Given the description of an element on the screen output the (x, y) to click on. 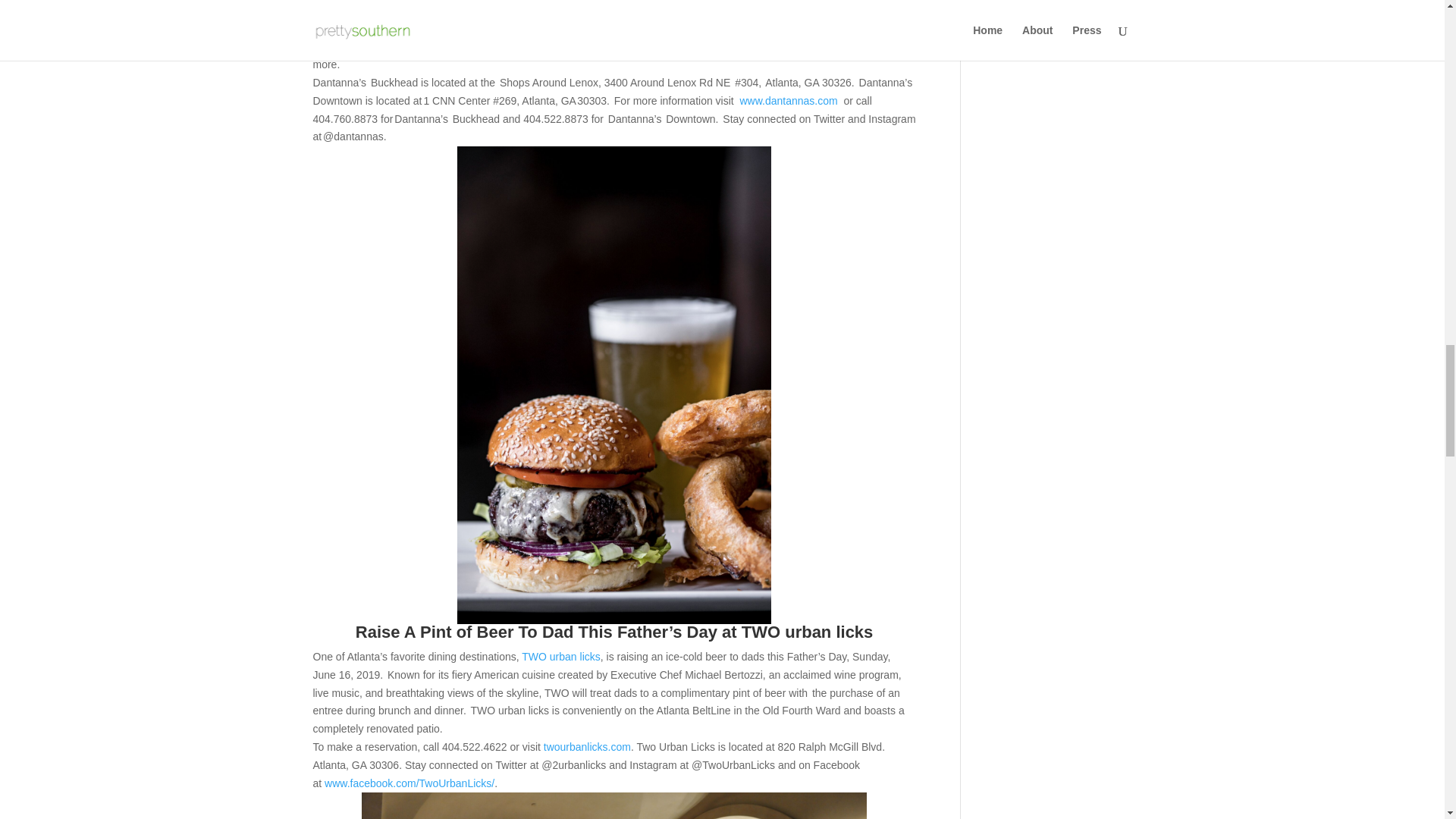
twourbanlicks.com (586, 746)
www.dantannas.com (788, 101)
TWO urban licks (560, 656)
